Given the description of an element on the screen output the (x, y) to click on. 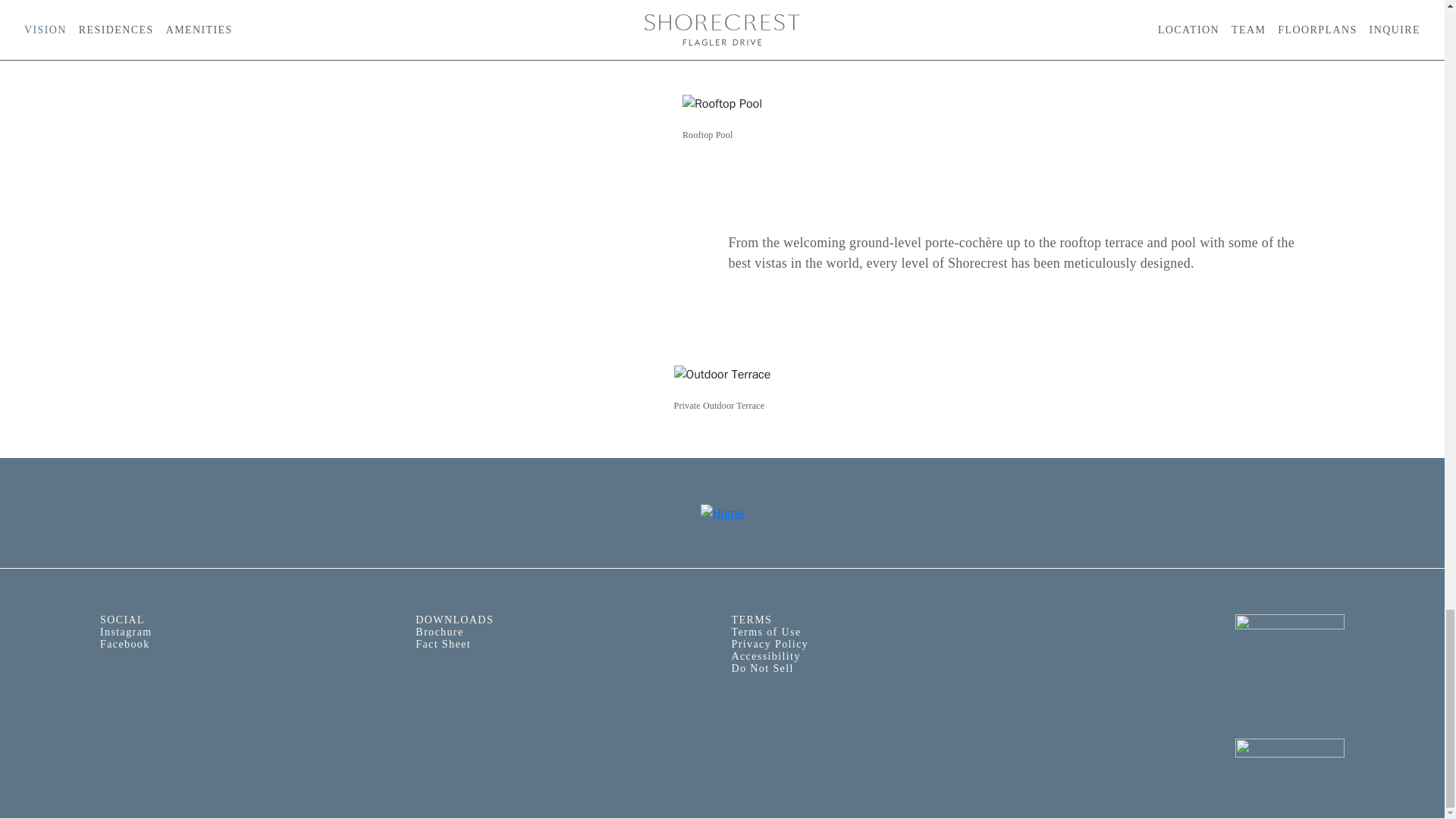
Instagram (248, 632)
Do Not Sell (761, 668)
Related Ross (1194, 676)
Facebook (248, 644)
Fact Sheet (563, 644)
Privacy Policy (769, 644)
Home (722, 512)
Accessibility (764, 655)
Accessibility Compliance (1194, 755)
Terms of Use (765, 632)
